Given the description of an element on the screen output the (x, y) to click on. 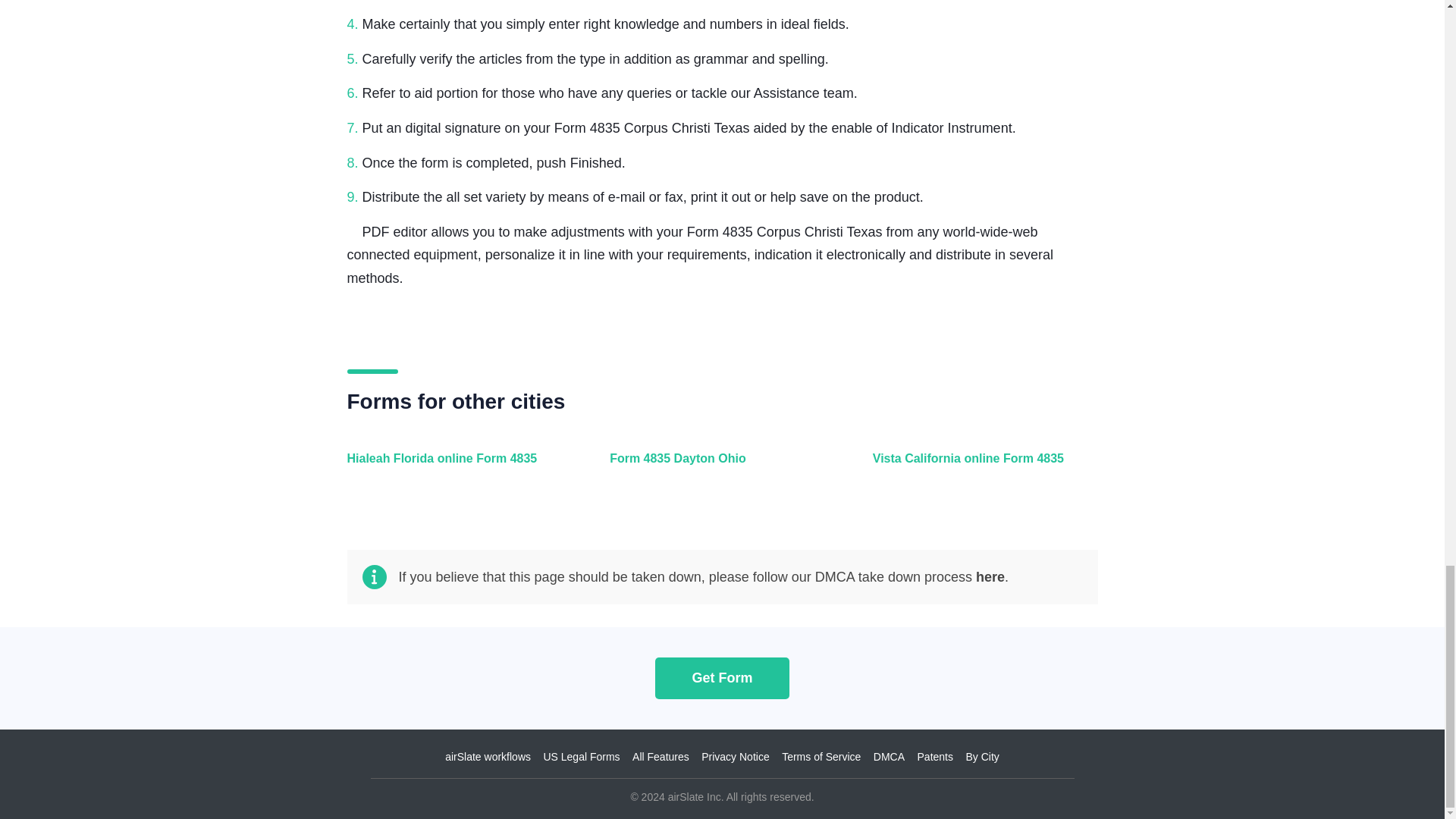
Terms of Service (820, 756)
DMCA (888, 756)
Vista California online Form 4835 (981, 466)
By City (981, 756)
US Legal Forms (581, 756)
Patents (935, 756)
Privacy Notice (734, 756)
here (989, 576)
All Features (659, 756)
airSlate workflows (488, 756)
Form 4835 Dayton Ohio (718, 466)
Get Form (722, 677)
Hialeah Florida online Form 4835 (456, 466)
